Given the description of an element on the screen output the (x, y) to click on. 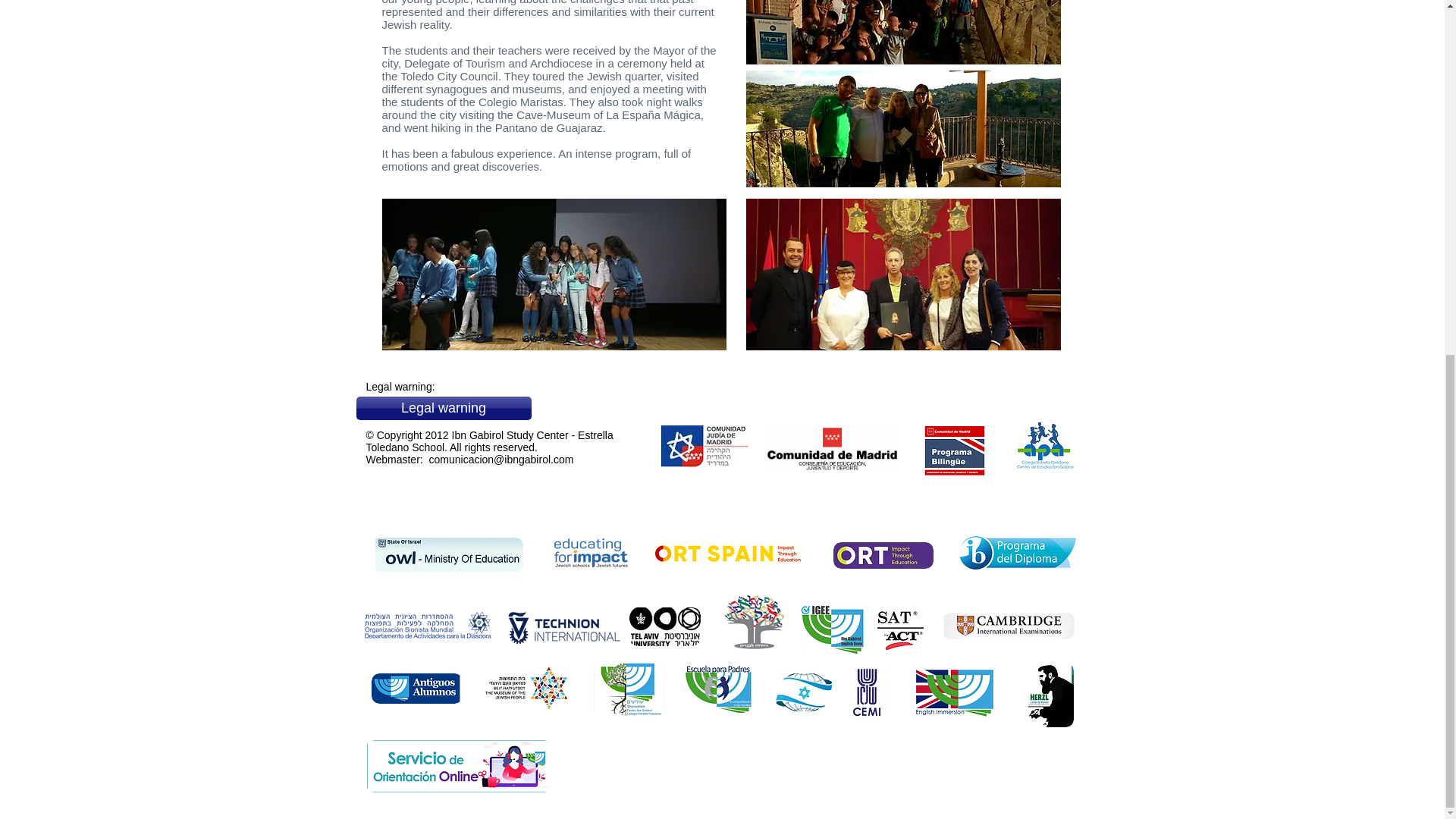
Legal warning (443, 408)
